Given the description of an element on the screen output the (x, y) to click on. 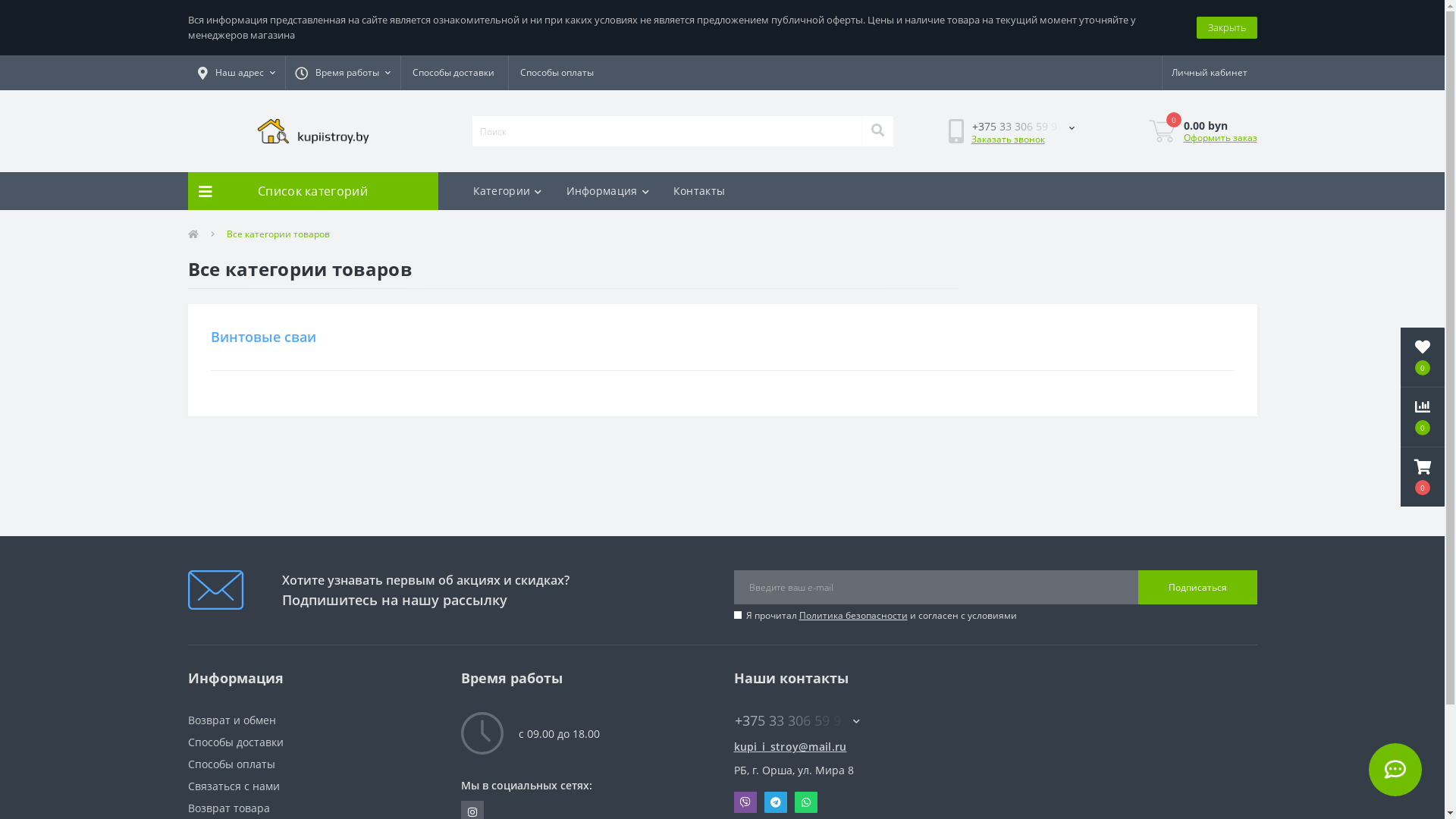
0 Element type: text (1422, 476)
0 Element type: text (1422, 416)
0 Element type: text (1161, 130)
+375 33 306 59 9 Element type: text (1022, 125)
kupi_i_stroy@mail.ru Element type: text (859, 746)
+375 33 306 59 9 Element type: text (859, 720)
0 Element type: text (1422, 356)
